Given the description of an element on the screen output the (x, y) to click on. 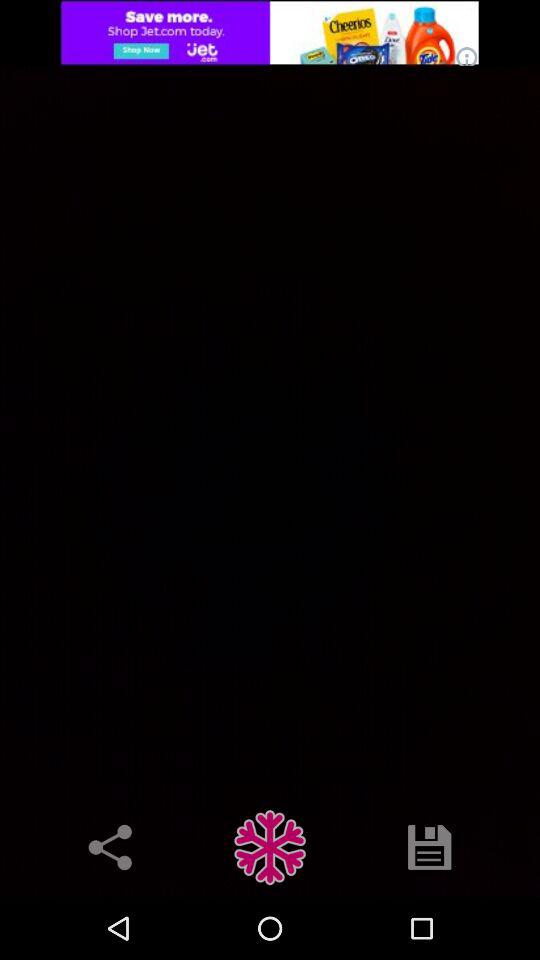
go to advertisement (270, 32)
